Given the description of an element on the screen output the (x, y) to click on. 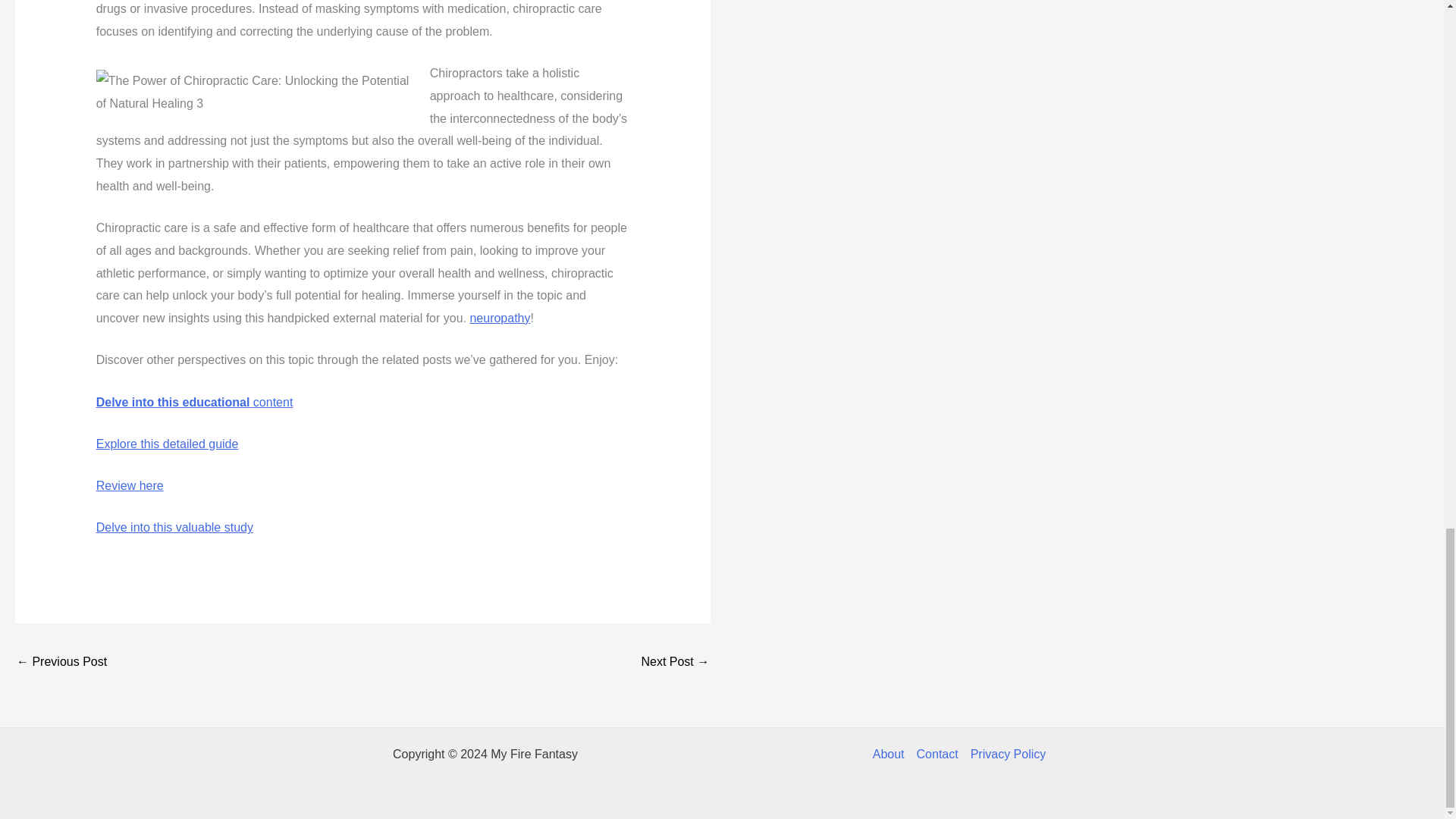
Delve into this educational content (195, 401)
Privacy Policy (1004, 753)
Exploring Different Home Styles Offered by Mildura Builders (61, 663)
neuropathy (498, 318)
Delve into this valuable study (174, 526)
About (891, 753)
Review here (129, 485)
Contact (937, 753)
Explore this detailed guide (167, 443)
